Given the description of an element on the screen output the (x, y) to click on. 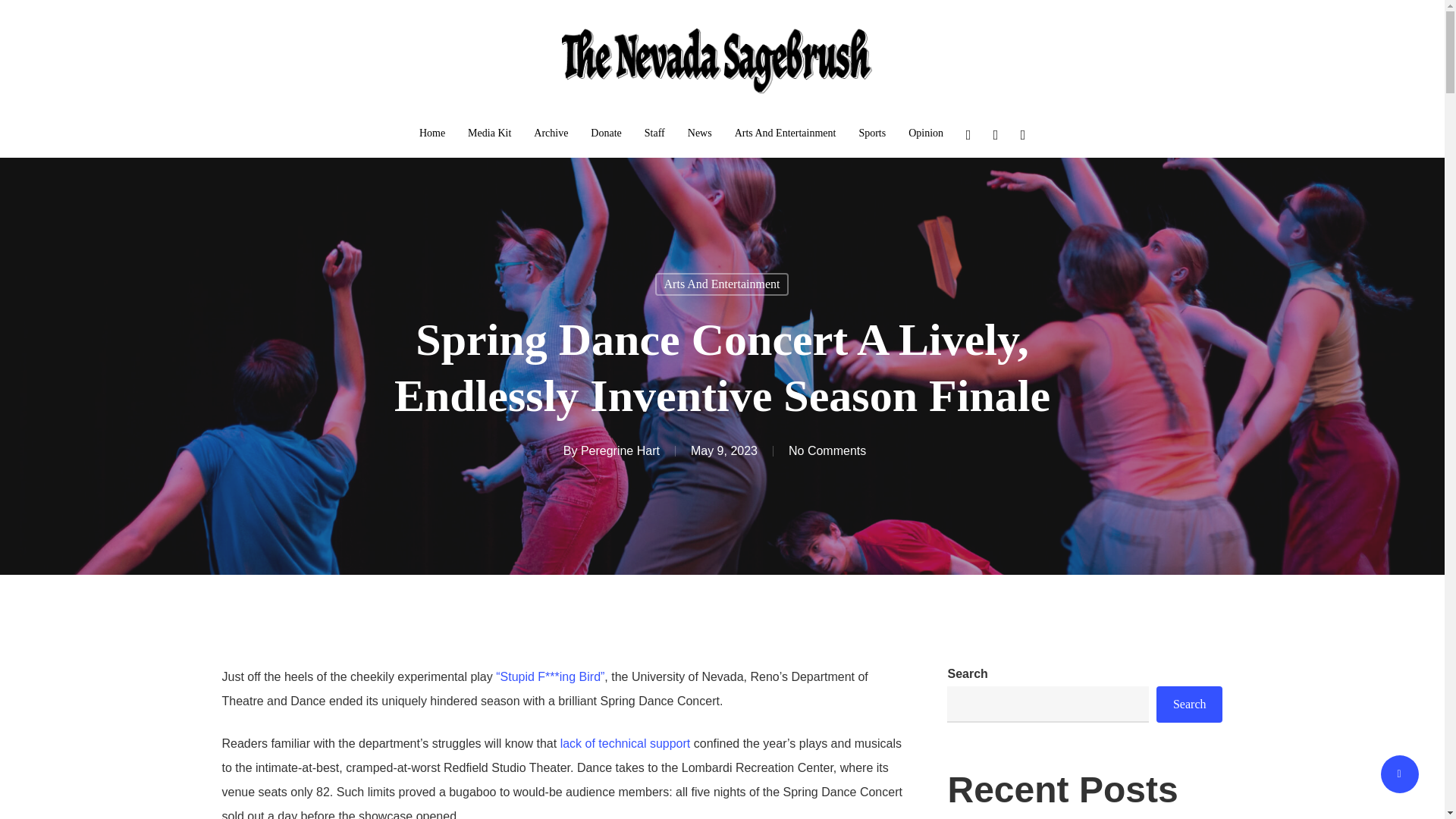
Twitter (968, 133)
Arts And Entertainment (722, 283)
Posts by Peregrine Hart (619, 450)
Archive (550, 132)
lack of technical support (625, 743)
Instagram (1022, 133)
Opinion (925, 132)
Arts And Entertainment (785, 132)
Donate (606, 132)
